Given the description of an element on the screen output the (x, y) to click on. 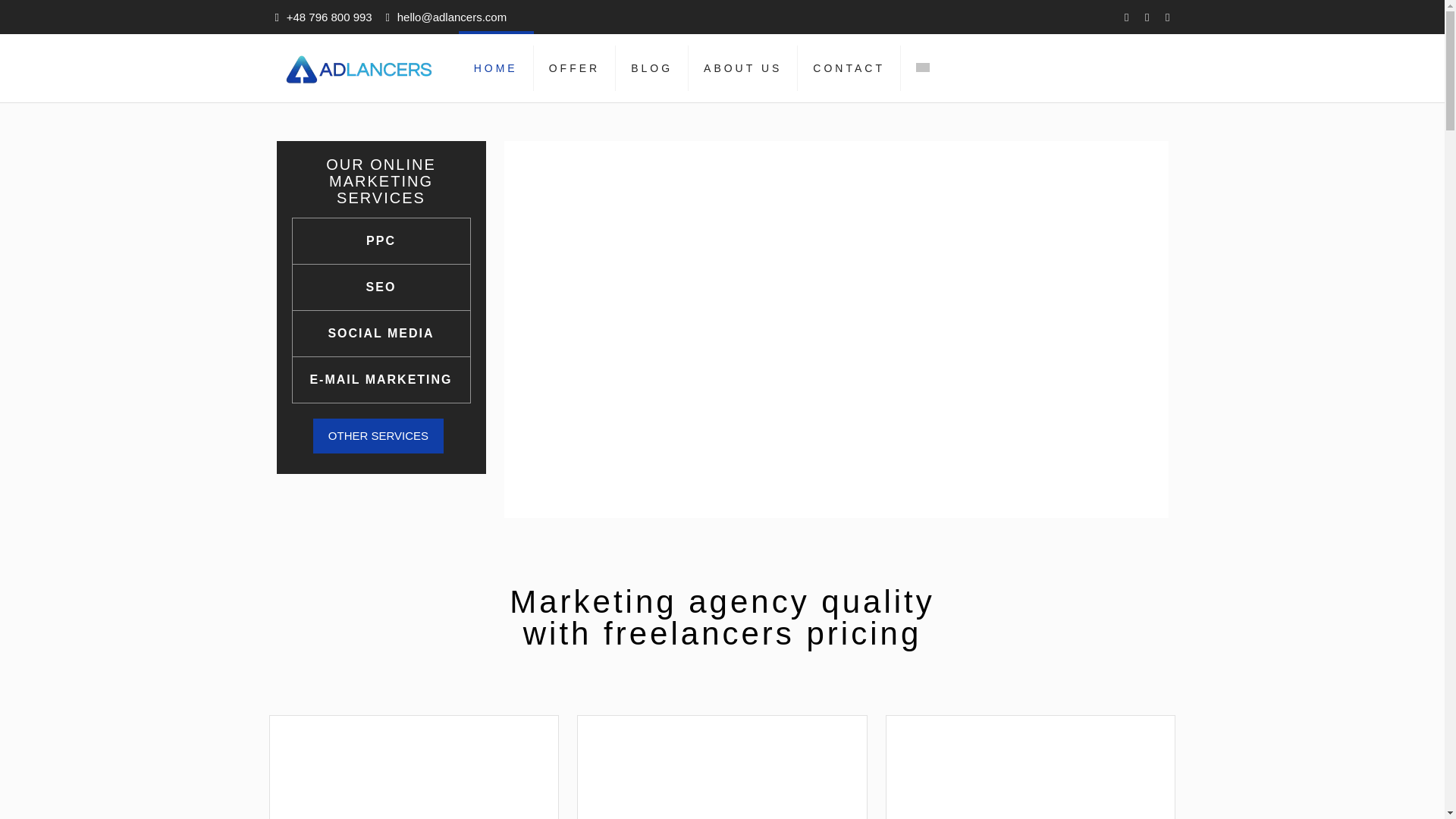
OFFER (574, 68)
BLOG (651, 68)
Facebook (1126, 16)
HOME (496, 68)
English (922, 67)
LinkedIn (1166, 16)
SEO (381, 287)
YouTube (1146, 16)
OTHER SERVICES (378, 435)
SOCIAL MEDIA (381, 334)
Adlancers - Digital Marketing Freelancers (359, 68)
E-MAIL MARKETING (381, 380)
CONTACT (849, 68)
ABOUT US (742, 68)
